Given the description of an element on the screen output the (x, y) to click on. 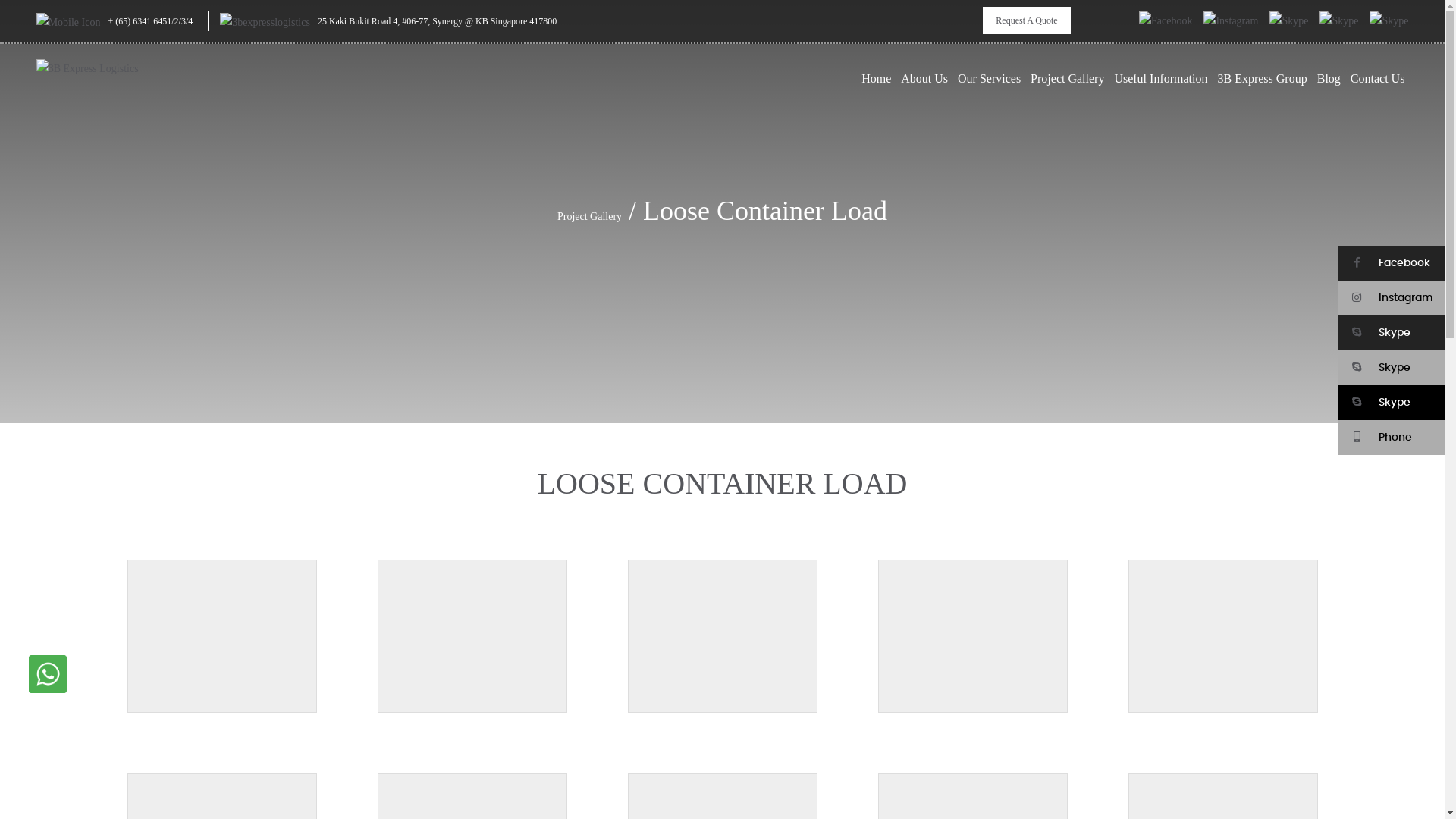
3B Express Group Element type: text (1261, 78)
+ (65) 6341 6451/2/3/4 Element type: text (149, 20)
3B Express Logistics Element type: text (82, 105)
Useful Information Element type: text (1160, 78)
Request A Quote Element type: text (1026, 20)
Phone Element type: text (1390, 437)
Blog Element type: text (1328, 78)
Skype Element type: text (1390, 402)
Instagram Element type: text (1390, 297)
Project Gallery Element type: text (589, 216)
Project Gallery Element type: text (1066, 78)
Facebook Element type: text (1390, 262)
Our Services Element type: text (988, 78)
About Us Element type: text (924, 78)
Contact Us Element type: text (1377, 78)
Skype Element type: text (1390, 367)
Skype Element type: text (1390, 332)
Home Element type: text (875, 78)
25 Kaki Bukit Road 4, #06-77, Synergy @ KB Singapore 417800 Element type: text (436, 20)
